Given the description of an element on the screen output the (x, y) to click on. 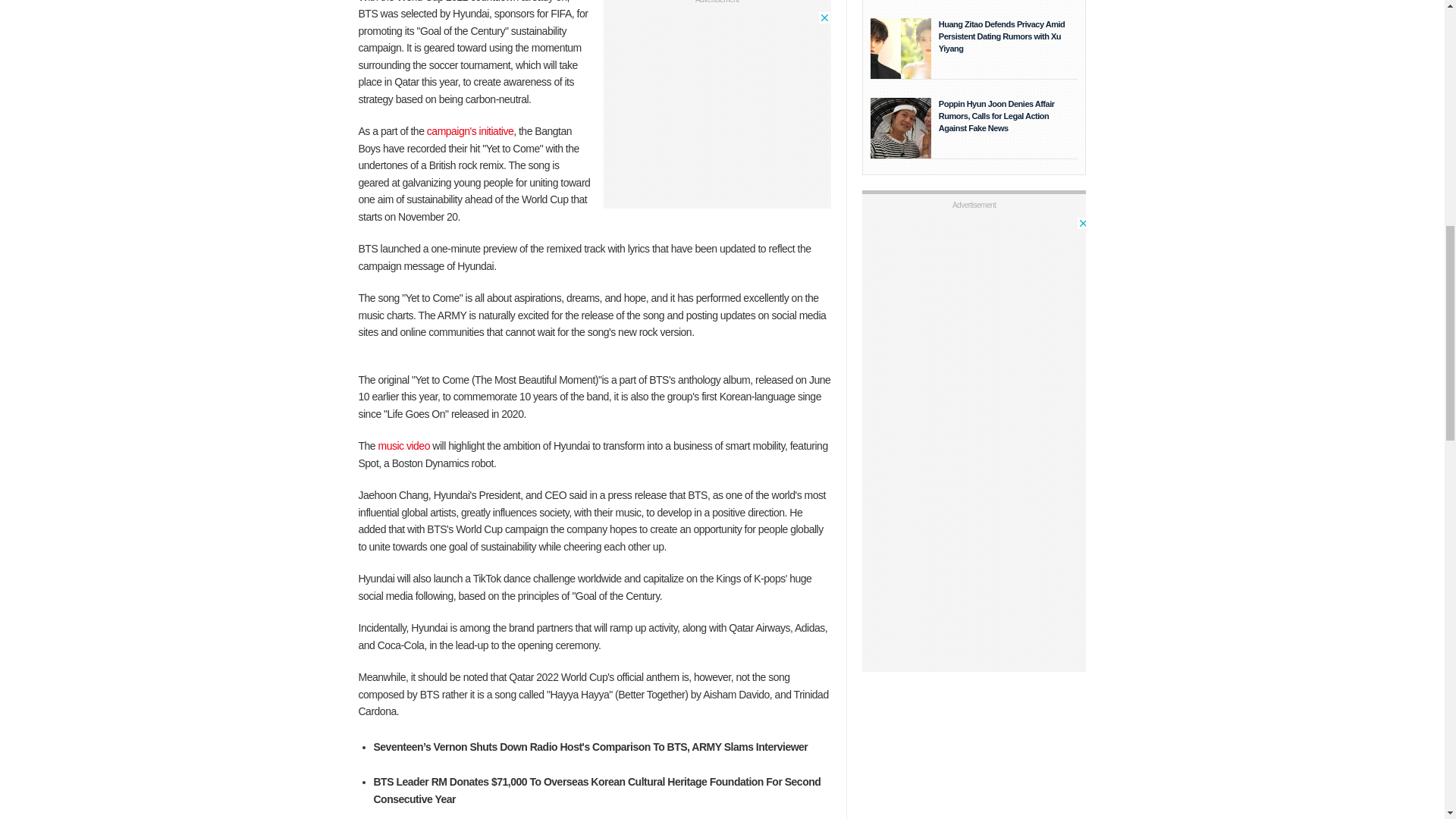
music video (403, 445)
campaign's initiative (469, 131)
3rd party ad content (717, 105)
